Given the description of an element on the screen output the (x, y) to click on. 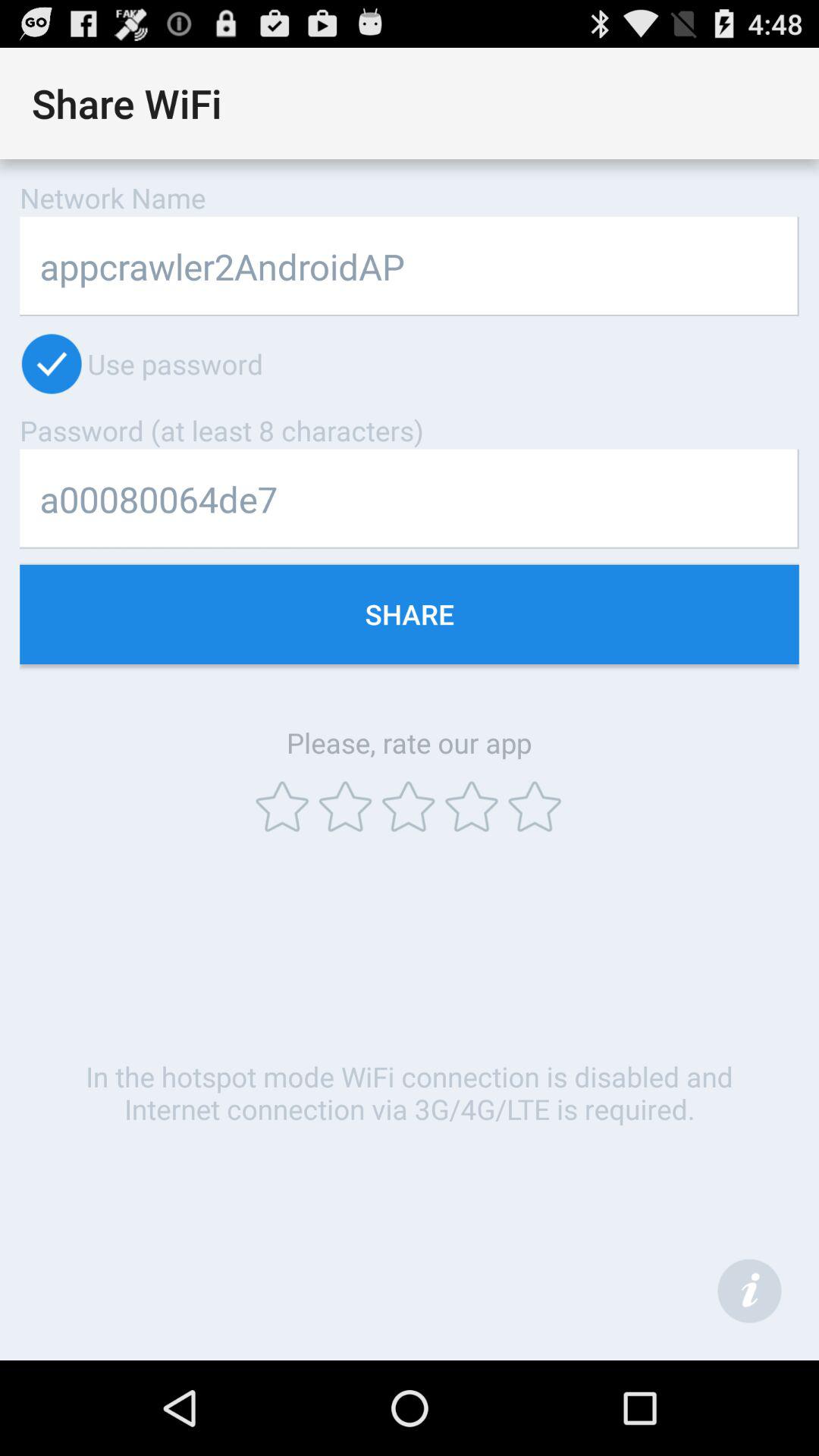
jump until the a00080064de7 item (409, 498)
